Given the description of an element on the screen output the (x, y) to click on. 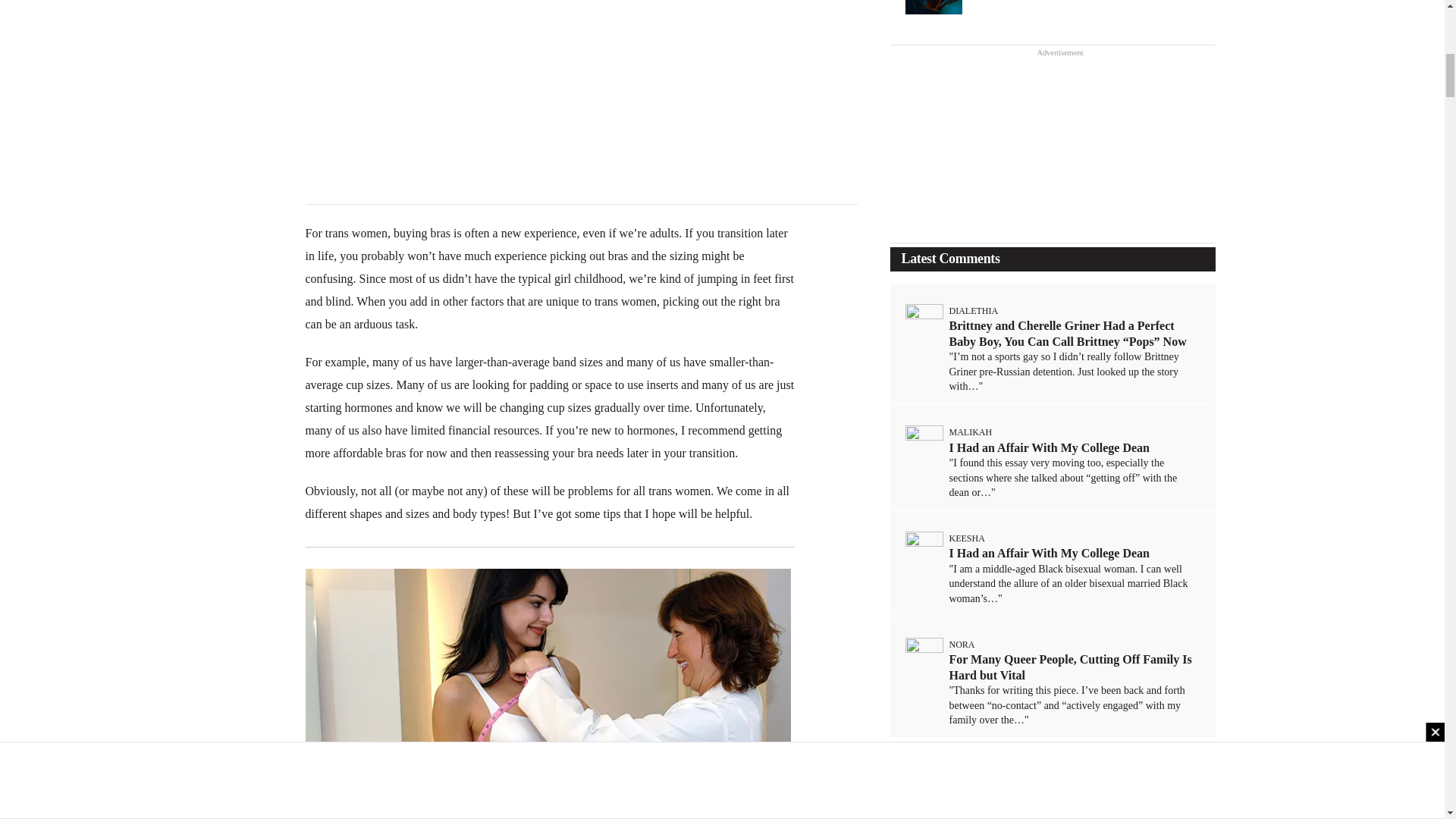
3rd party ad content (580, 104)
